Given the description of an element on the screen output the (x, y) to click on. 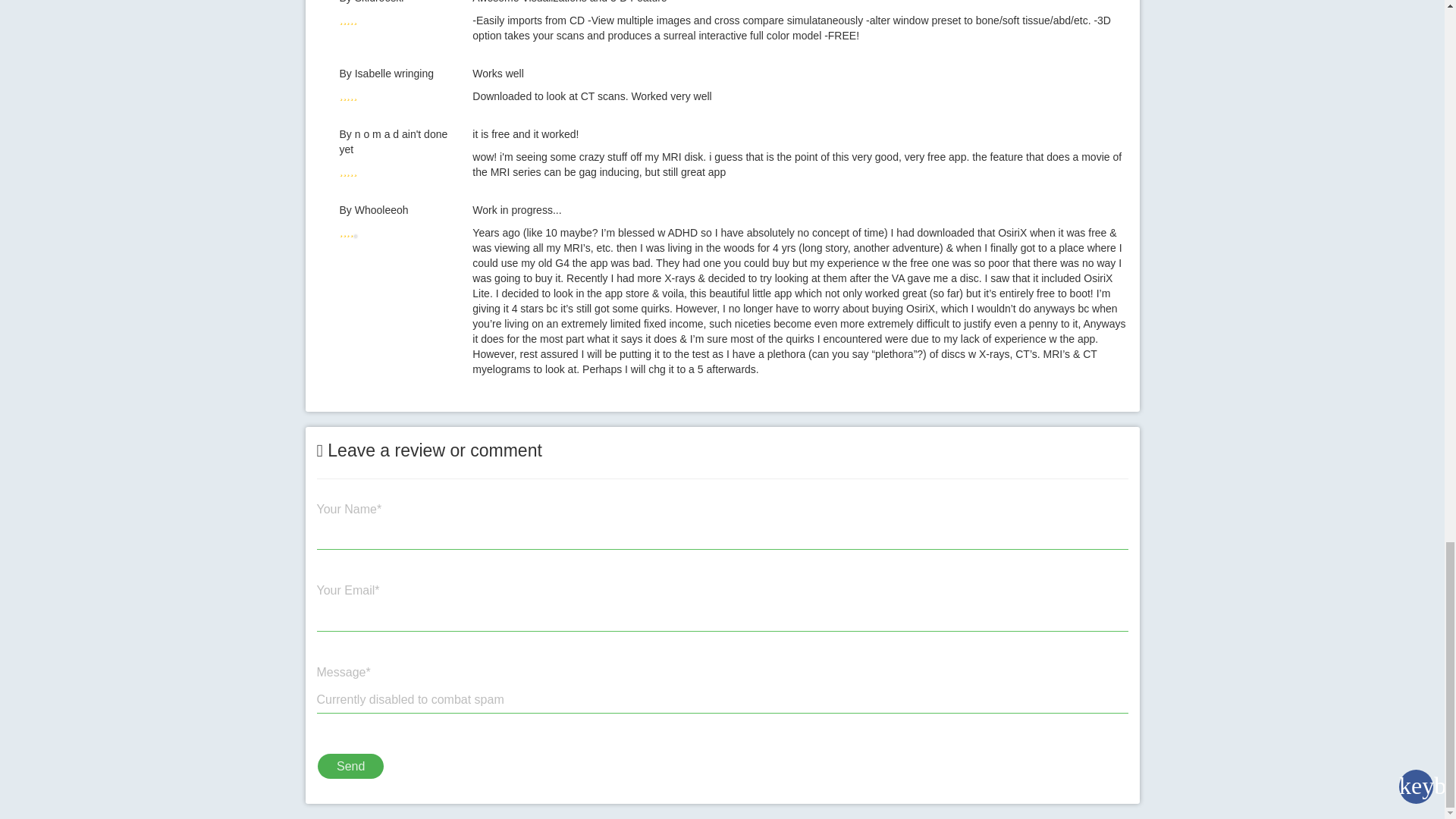
Send (349, 765)
